Given the description of an element on the screen output the (x, y) to click on. 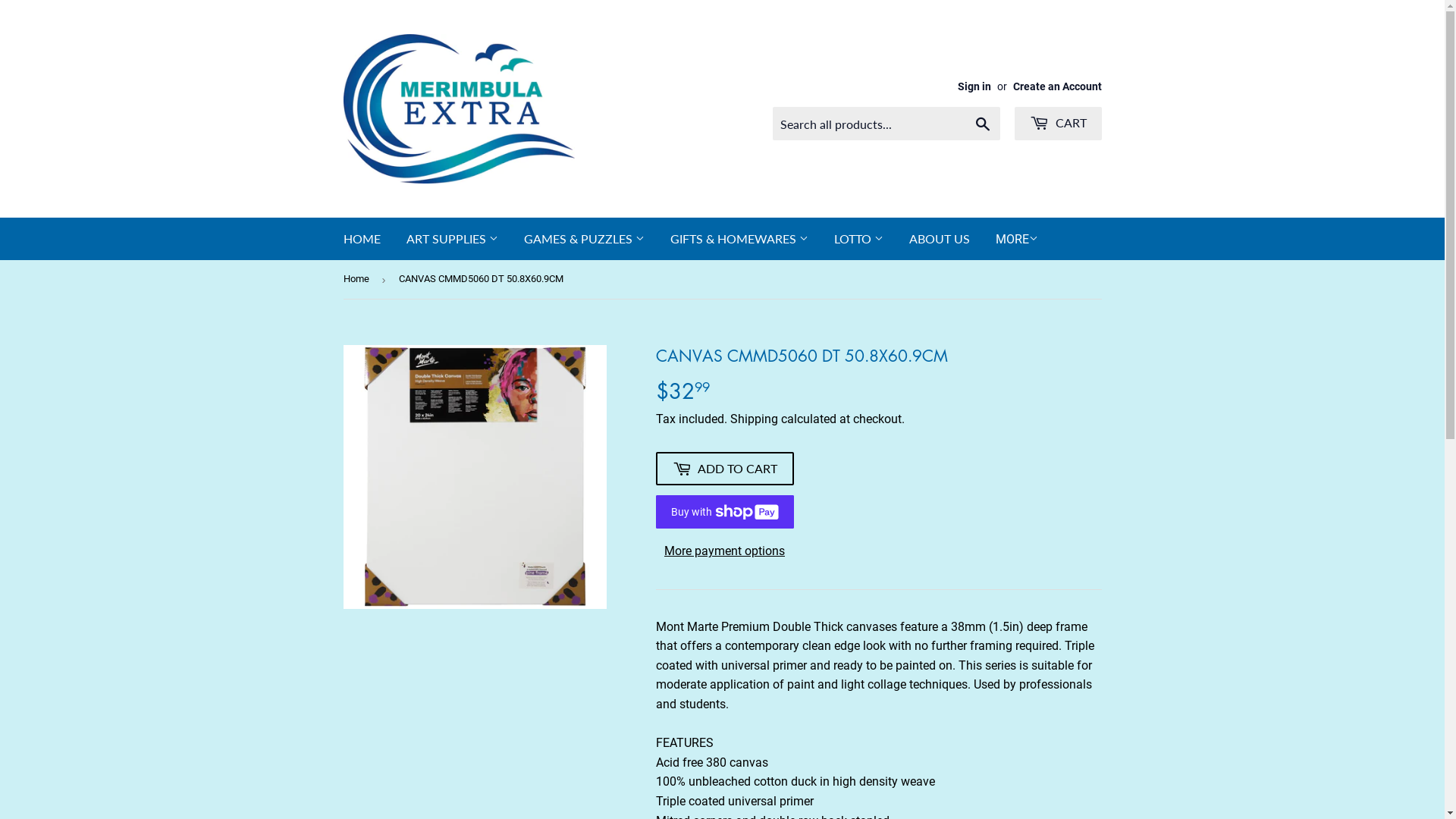
ART SUPPLIES Element type: text (451, 238)
GIFTS & HOMEWARES Element type: text (738, 238)
HOME Element type: text (362, 238)
CART Element type: text (1057, 123)
MORE Element type: text (1016, 239)
GAMES & PUZZLES Element type: text (583, 238)
Search Element type: text (983, 124)
ADD TO CART Element type: text (724, 468)
Create an Account Element type: text (1057, 86)
Home Element type: text (357, 279)
LOTTO Element type: text (858, 238)
Shipping Element type: text (753, 418)
More payment options Element type: text (724, 550)
Sign in Element type: text (973, 86)
ABOUT US Element type: text (939, 238)
